Given the description of an element on the screen output the (x, y) to click on. 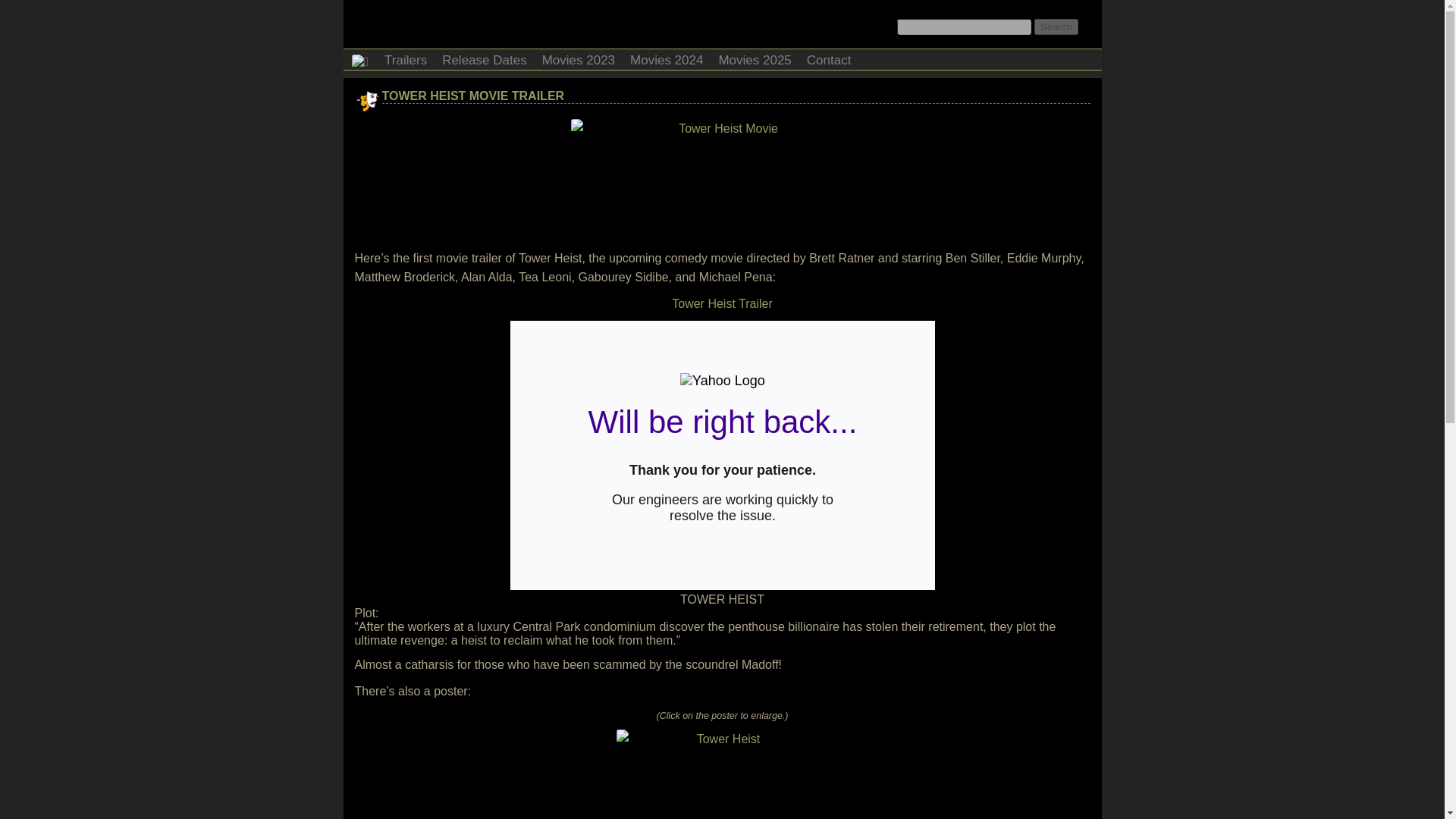
Tower Heist Trailer (721, 303)
TOWER HEIST MOVIE TRAILER (472, 95)
Search (1055, 26)
Home (359, 59)
Trailers (405, 58)
Movies 2023 (578, 58)
Contact (829, 58)
Search (1055, 26)
Release Dates (483, 58)
Movies 2025 (753, 58)
